Given the description of an element on the screen output the (x, y) to click on. 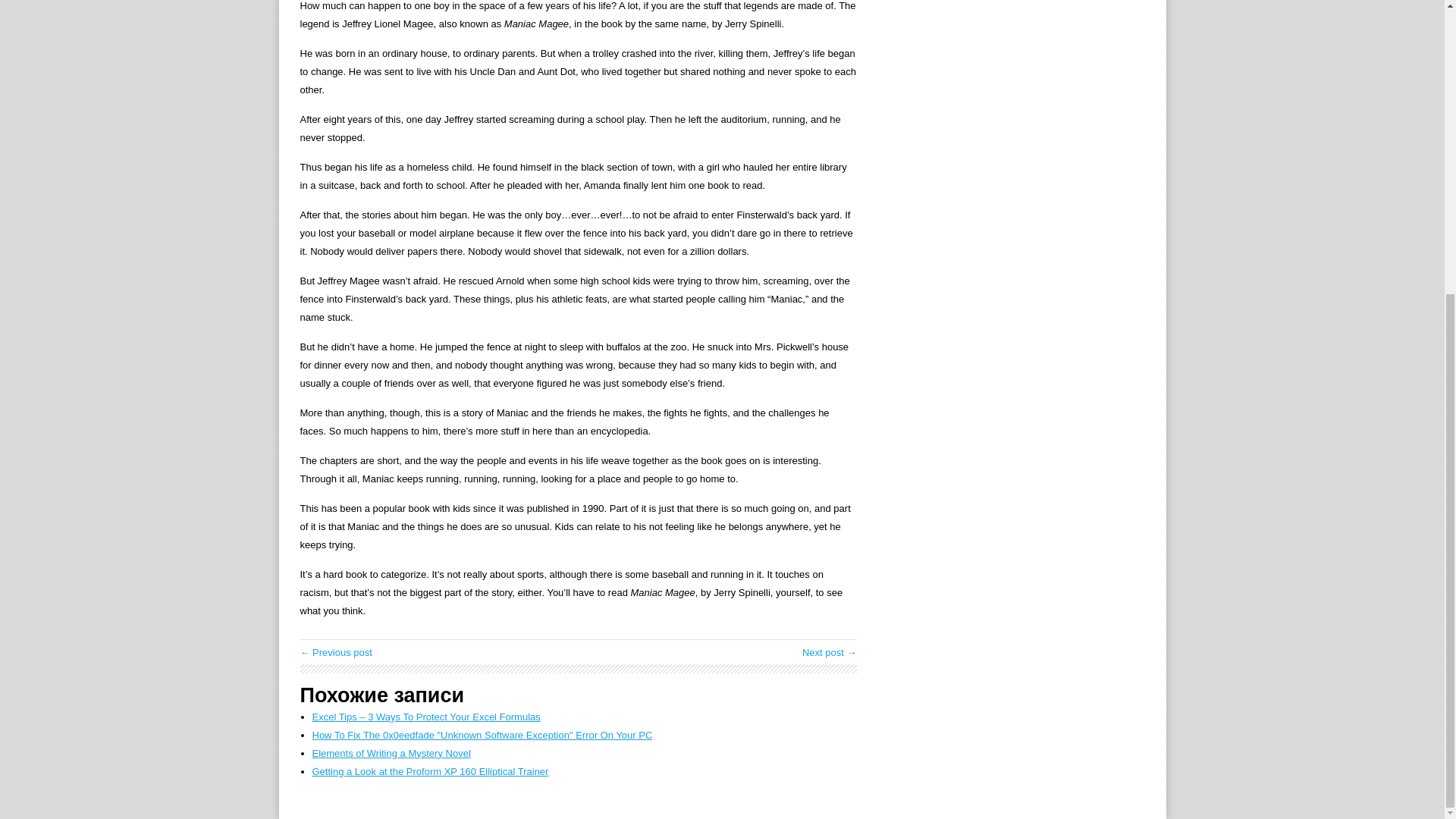
Elements of Writing a Mystery Novel (391, 753)
Removing Stuck Screws With a Screw Extractor (335, 652)
Getting a Look at the Proform XP 160 Elliptical Trainer (430, 771)
Driveway Pavers - Do it Yourself (829, 652)
